Given the description of an element on the screen output the (x, y) to click on. 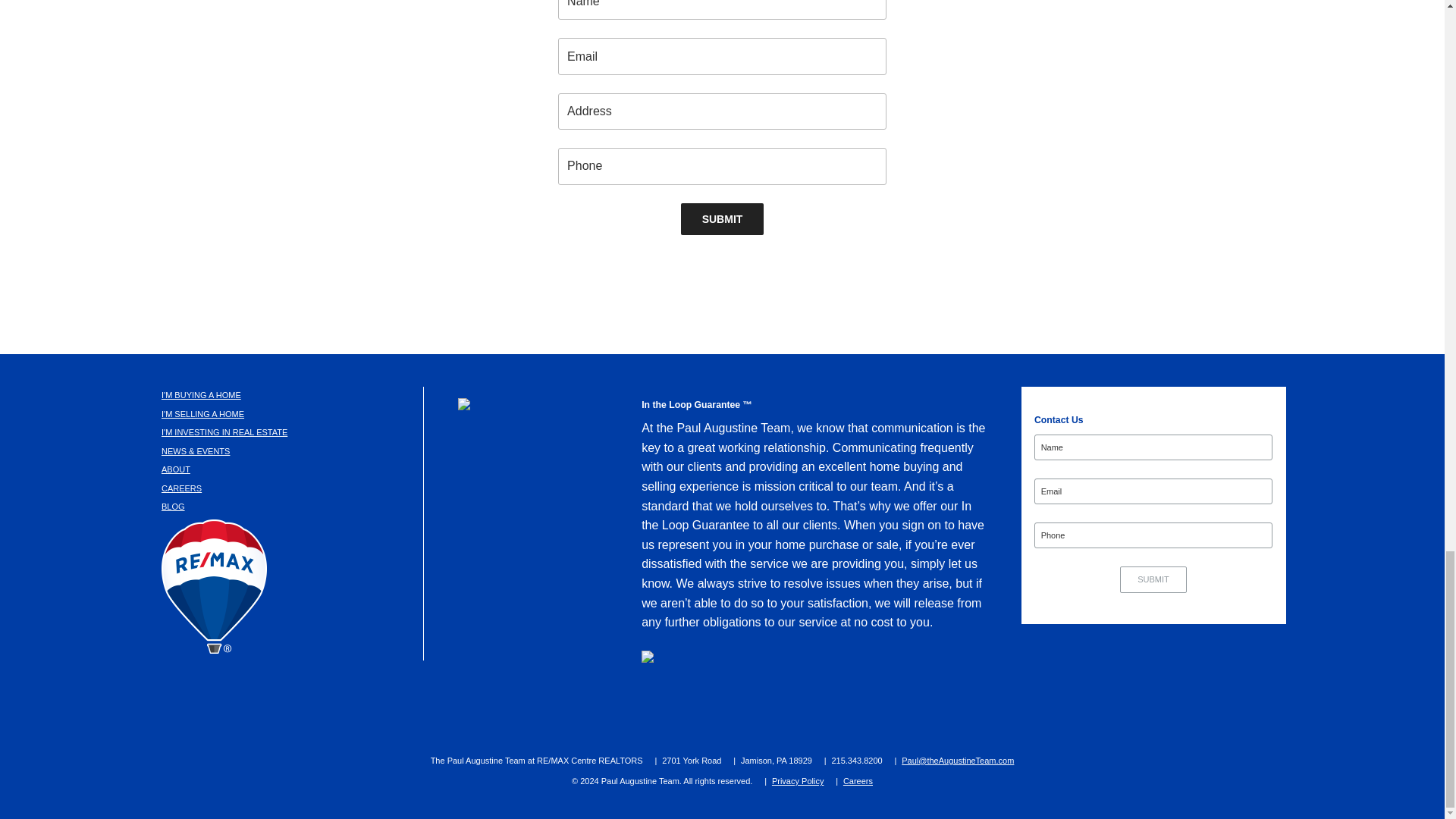
SUBMIT (722, 219)
SUBMIT (1152, 579)
Facebook (570, 711)
Privacy Policy (797, 780)
Careers (857, 780)
SUBMIT (1152, 579)
CAREERS (181, 488)
Twitter (641, 711)
Instagram (713, 711)
BLOG (172, 506)
I'M SELLING A HOME (202, 413)
YouTube (863, 711)
I'M INVESTING IN REAL ESTATE (223, 431)
I'M BUYING A HOME (201, 394)
ABOUT (175, 469)
